Given the description of an element on the screen output the (x, y) to click on. 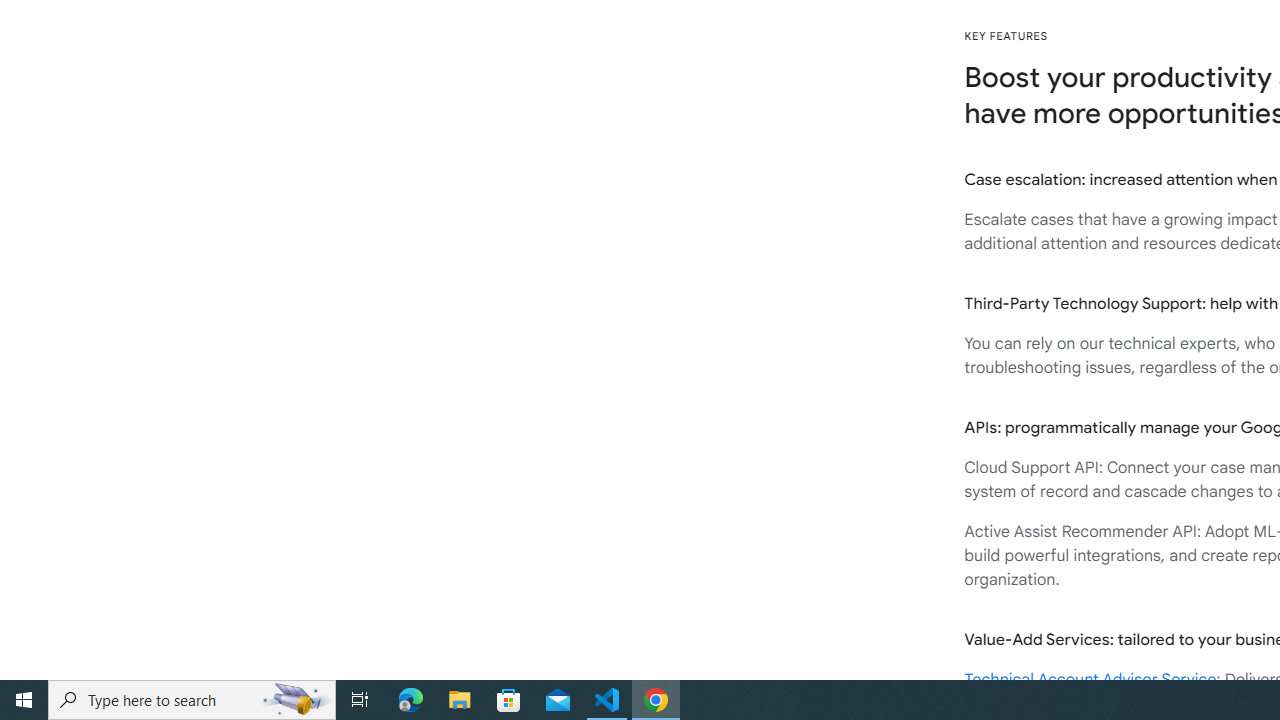
Technical Account Advisor Service (1090, 679)
